Given the description of an element on the screen output the (x, y) to click on. 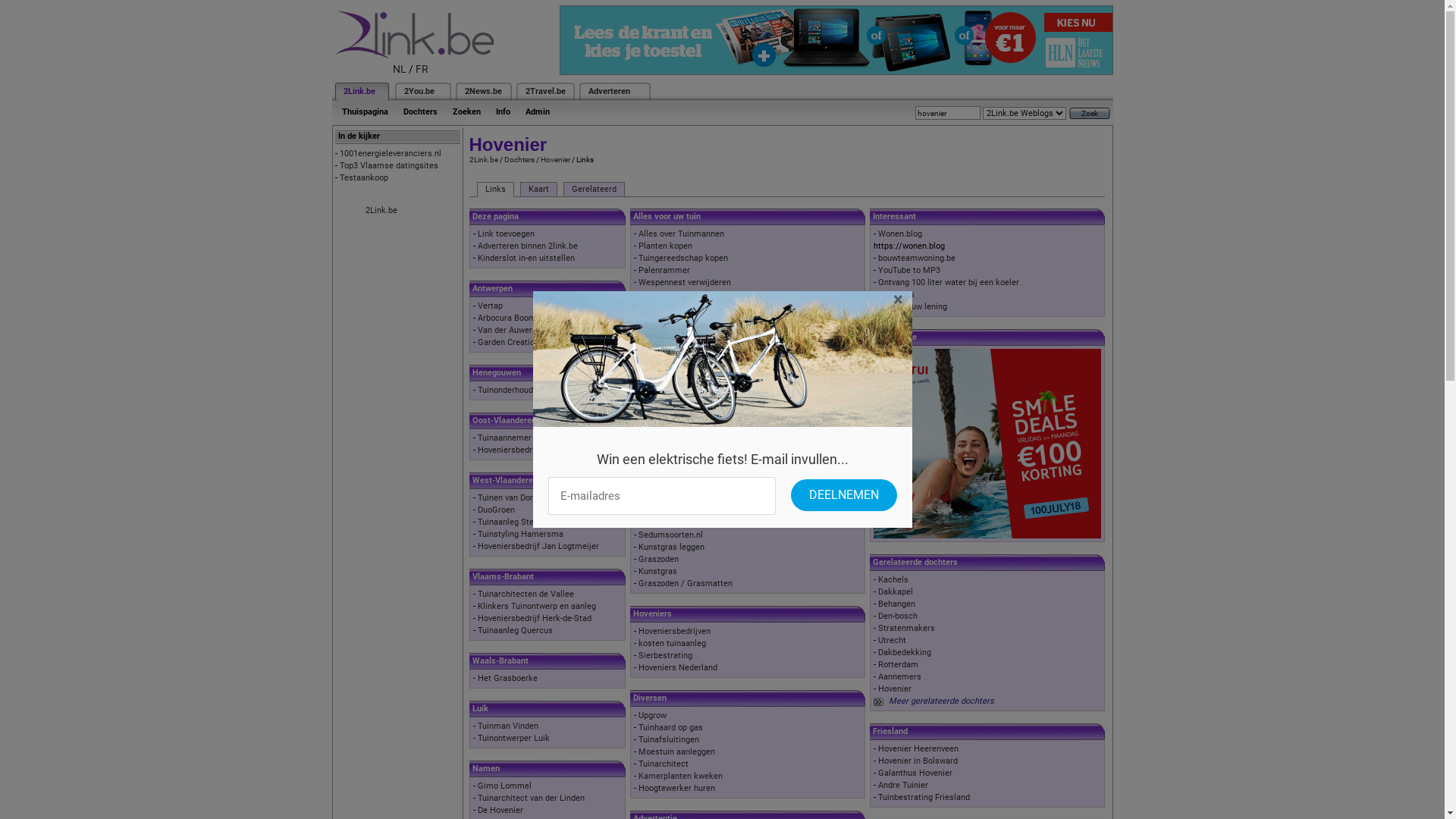
Klinkers Tuinontwerp en aanleg Element type: text (536, 606)
Bereken uw lening Element type: text (912, 306)
Top3 Vlaamse datingsites Element type: text (388, 165)
Thuispagina Element type: text (364, 111)
Tuinhaard op gas Element type: text (670, 727)
Hoveniersbedrijf Herk-de-Stad Element type: text (534, 618)
2You.be Element type: text (418, 91)
Bouwgids Element type: text (896, 294)
Garden Creation BVBA Element type: text (519, 342)
Kamerplanten kweken Element type: text (680, 776)
Vertap Element type: text (489, 305)
YouTube to MP3 Element type: text (909, 270)
Tuinafscheiding.nl Element type: text (672, 450)
Tuinaanleg Stephan Boute Element type: text (526, 522)
Vuurschaal in uw tuin? Element type: text (680, 462)
2Link.be Element type: text (358, 91)
Hoogtewerker huren Element type: text (676, 788)
banken Element type: text (651, 378)
Het Grasboerke Element type: text (507, 678)
2Link.be Element type: text (381, 210)
Gimo Lommel Element type: text (504, 785)
Graszoden / Grasmatten Element type: text (685, 583)
Planten kopen Element type: text (665, 246)
Tuinaanleg Quercus Element type: text (514, 630)
Tuinarchitect Element type: text (663, 763)
1001energieleveranciers.nl Element type: text (390, 153)
Kunstgras leggen Element type: text (671, 547)
Tuinberegening Element type: text (667, 318)
DuoGroen Element type: text (495, 509)
Tuinstyling Hamersma Element type: text (520, 534)
Adverteren binnen 2link.be Element type: text (527, 246)
kosten tuinaanleg Element type: text (672, 643)
Tuinafsluitingen Element type: text (668, 739)
Kaart Element type: text (538, 189)
Alles over Tuinmannen Element type: text (681, 233)
Ontvang 100 liter water bij een koeler Element type: text (948, 282)
Hoveniers Nederland Element type: text (677, 667)
Utrecht Element type: text (892, 640)
Tuin Haarden expert Element type: text (676, 487)
Hovenier Element type: text (894, 688)
Tuinonderhoud Charleroi Element type: text (523, 390)
Kachels Element type: text (893, 579)
Stratenmakers Element type: text (906, 628)
Sierbestrating Element type: text (665, 655)
Moestuin aanleggen Element type: text (676, 751)
Schutting laten plaatsen Element type: text (684, 438)
Andre Tuinier Element type: text (903, 785)
Gerelateerd Element type: text (593, 189)
Tuinbestrating Friesland Element type: text (923, 797)
Dakkapel Element type: text (895, 591)
Tuinontwerper Luik Element type: text (513, 738)
Van der Auwera Element type: text (506, 330)
Hovenier in Bolsward Element type: text (917, 760)
Kunstgras Element type: text (657, 571)
Zoeken Element type: text (465, 111)
Tuinarchitecten de Vallee Element type: text (525, 594)
Dochters Element type: text (518, 159)
Aannemers Element type: text (899, 676)
Links Element type: text (494, 189)
2Travel.be Element type: text (544, 91)
Dochters Element type: text (420, 111)
Behangen Element type: text (896, 603)
Dakbedekking Element type: text (904, 652)
Upgrow Element type: text (652, 715)
Arbocura Boomverzorging Element type: text (525, 318)
Hovenier Heerenveen Element type: text (918, 748)
Wespennest verwijderen Element type: text (684, 282)
NL Element type: text (399, 68)
Admin Element type: text (536, 111)
2News.be Element type: text (482, 91)
Sedumsoorten.nl Element type: text (670, 534)
Tuinaannemer Oost-Vlaanderen Element type: text (536, 437)
Adverteren Element type: text (609, 91)
Den-bosch Element type: text (897, 616)
Hovenier Element type: text (554, 159)
2Link.be Element type: text (482, 159)
Hoveniersbedrijven Element type: text (674, 631)
Wanneer buxus snoeien Element type: text (683, 294)
Tuinman Vinden Element type: text (507, 726)
Testaankoop Element type: text (363, 177)
Robotmaaiers Element type: text (664, 330)
Galanthus Hovenier Element type: text (915, 773)
Palenrammer Element type: text (664, 270)
Meer gerelateerde dochters Element type: text (941, 701)
Graszoden Element type: text (658, 559)
container huren Element type: text (667, 306)
FR Element type: text (421, 68)
Tuinarchitect van der Linden Element type: text (530, 798)
Tuinbeelden | bronzenbeeldenwinkel Element type: text (706, 475)
Info Element type: text (502, 111)
Tuingereedschap kopen Element type: text (683, 258)
Link toevoegen Element type: text (505, 233)
Tuinen van Dorpe Element type: text (509, 497)
De Hovenier Element type: text (500, 810)
bouwteamwoning.be Element type: text (916, 258)
Zoek Element type: text (1089, 113)
Wonen.blog Element type: text (900, 233)
Kinderslot in-en uitstellen Element type: text (525, 258)
Hoveniersbedrijf Jan Logtmeijer Element type: text (538, 546)
Meststoffen Element type: text (661, 426)
Rotterdam Element type: text (898, 664)
